Given the description of an element on the screen output the (x, y) to click on. 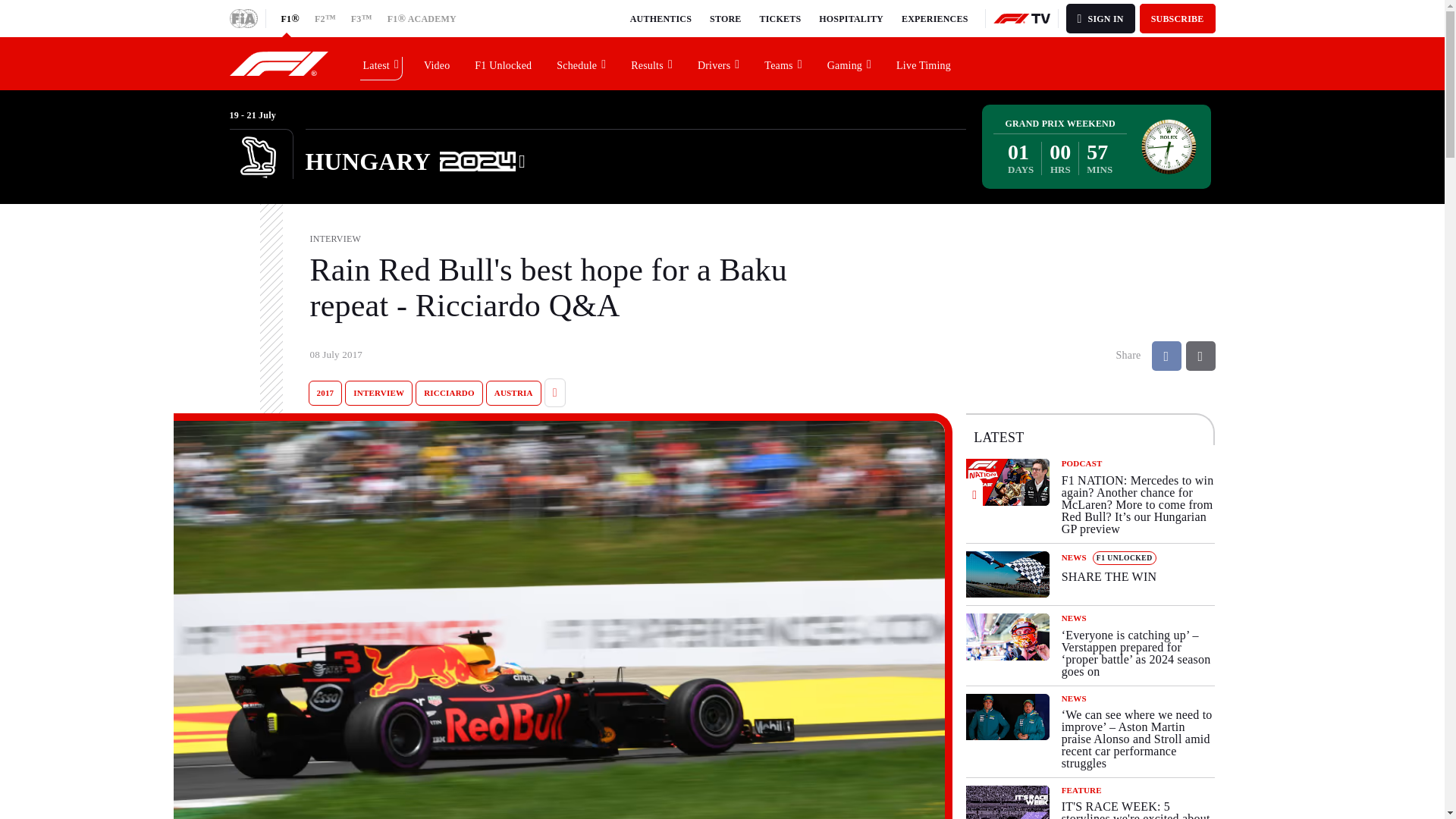
HOSPITALITY (850, 18)
Drivers (718, 63)
Schedule (581, 63)
INTERVIEW (378, 392)
Gaming (849, 63)
AUSTRIA (513, 392)
TICKETS (781, 18)
Live Timing (923, 63)
SUBSCRIBE (1177, 18)
Latest (380, 63)
Results (651, 63)
SIGN IN (1100, 18)
F1 Unlocked (503, 63)
STORE (725, 18)
2017 (324, 392)
